Given the description of an element on the screen output the (x, y) to click on. 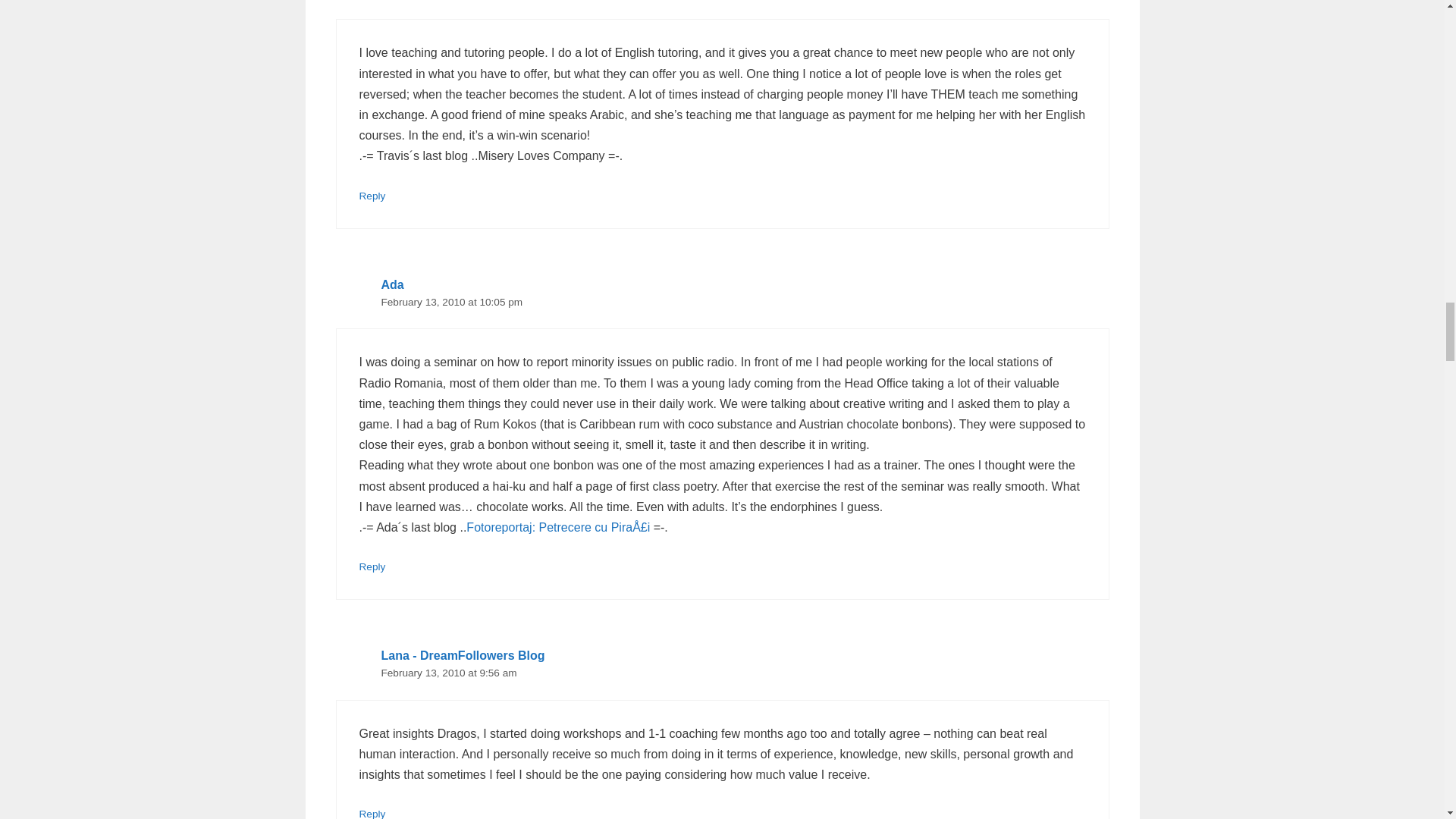
Ada (391, 284)
Reply (372, 195)
